Given the description of an element on the screen output the (x, y) to click on. 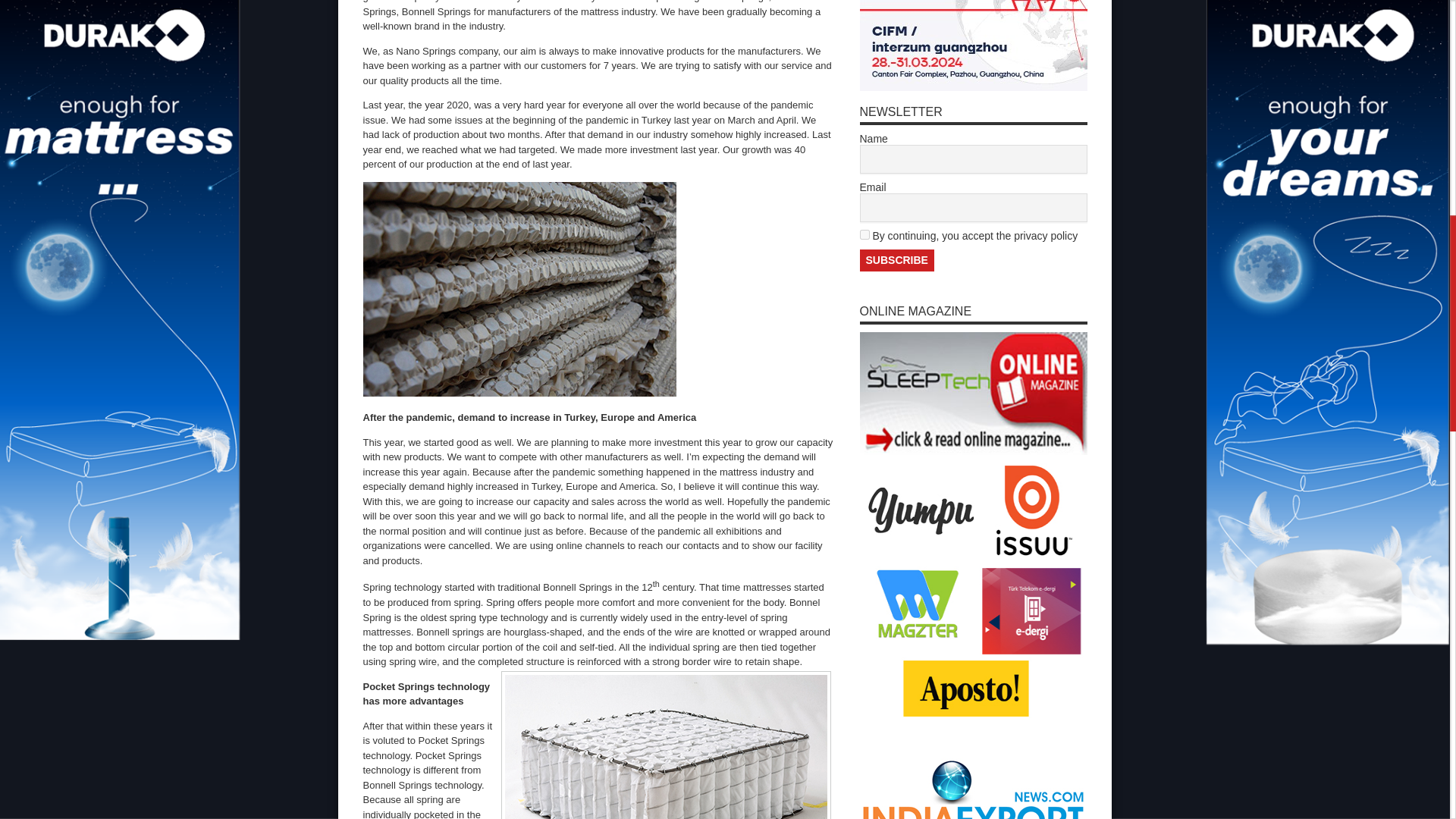
on (864, 234)
SUBSCRIBE (897, 260)
